Given the description of an element on the screen output the (x, y) to click on. 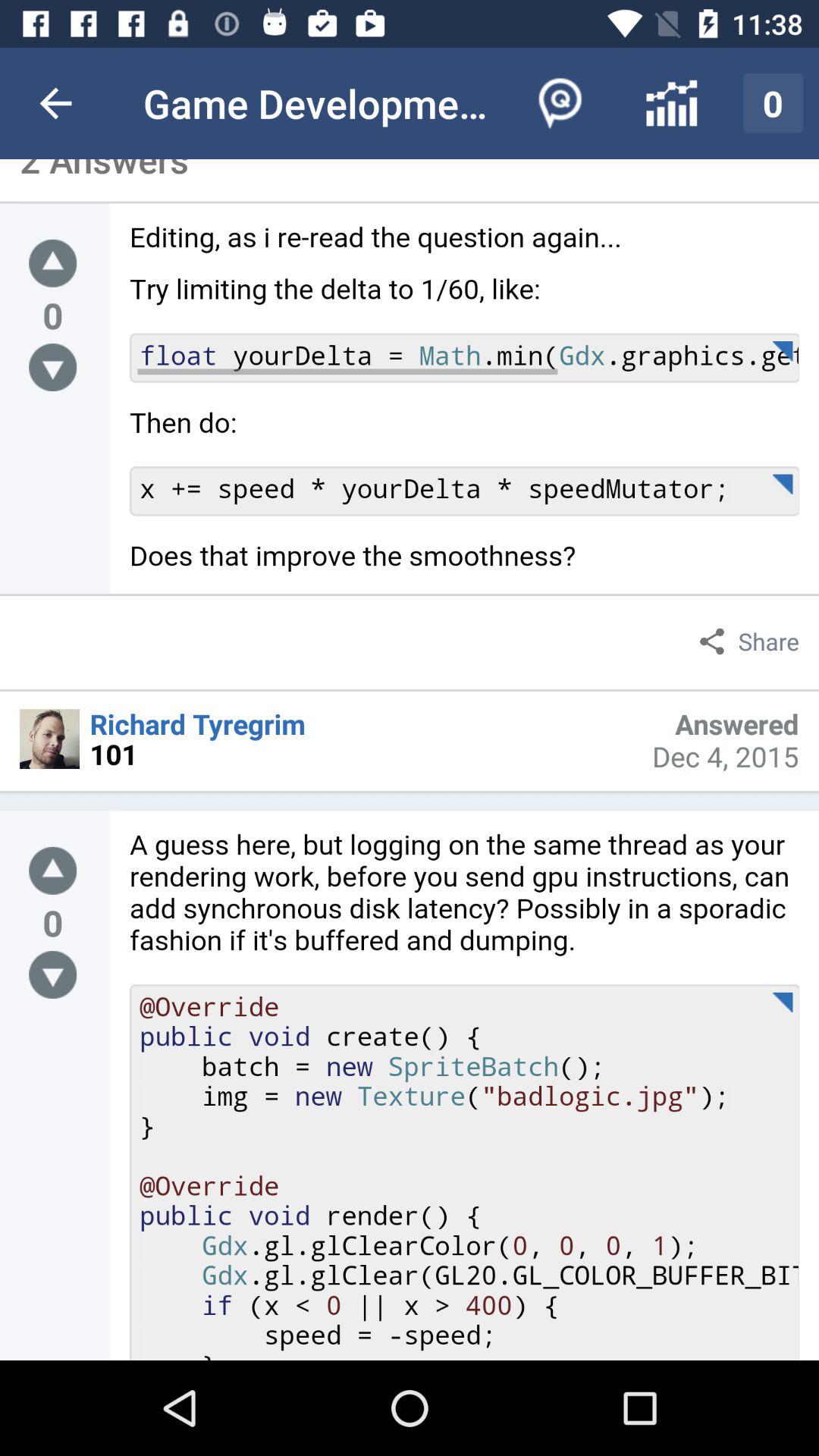
select this profile (49, 738)
